Given the description of an element on the screen output the (x, y) to click on. 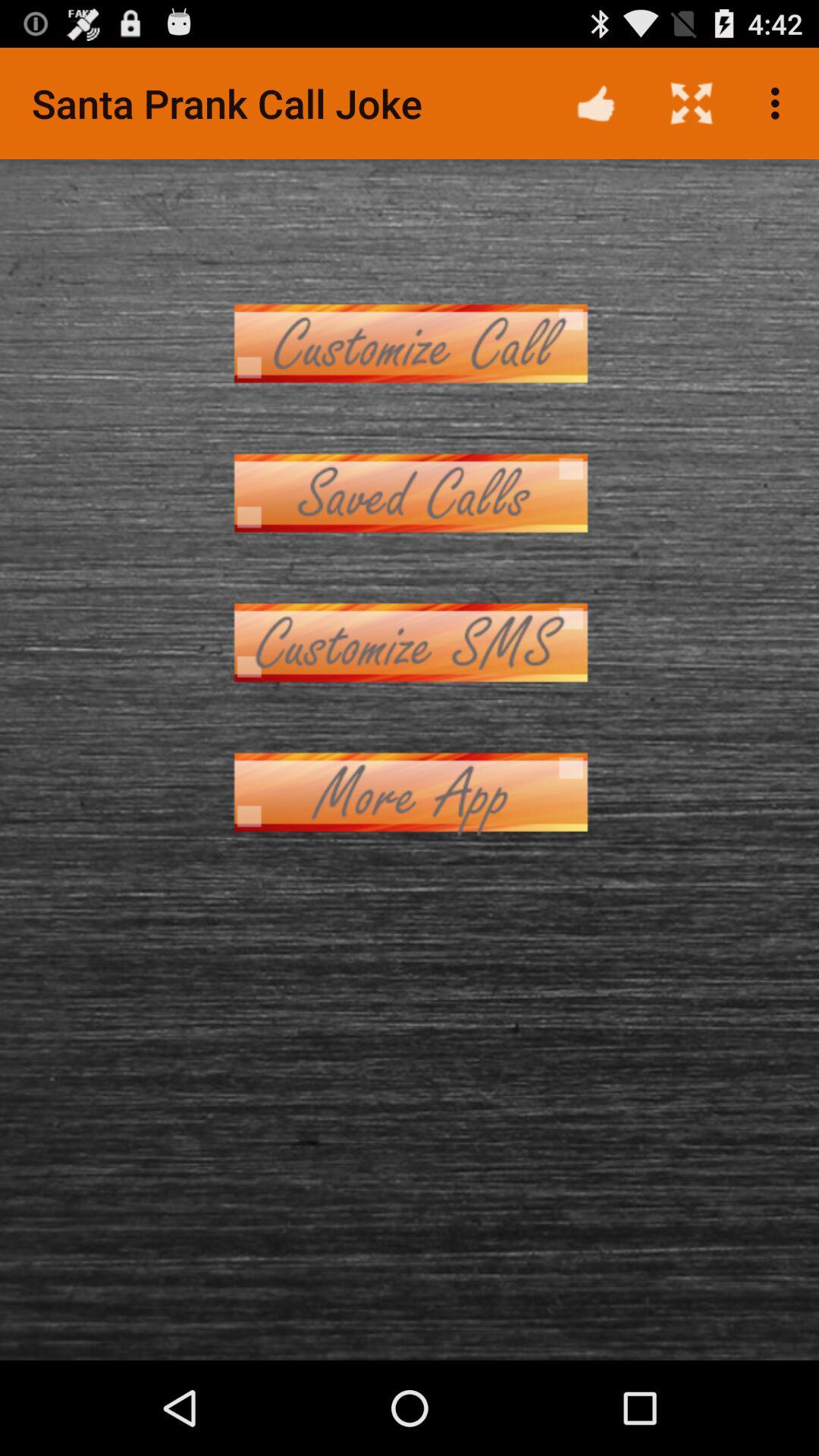
find more apps (409, 792)
